Given the description of an element on the screen output the (x, y) to click on. 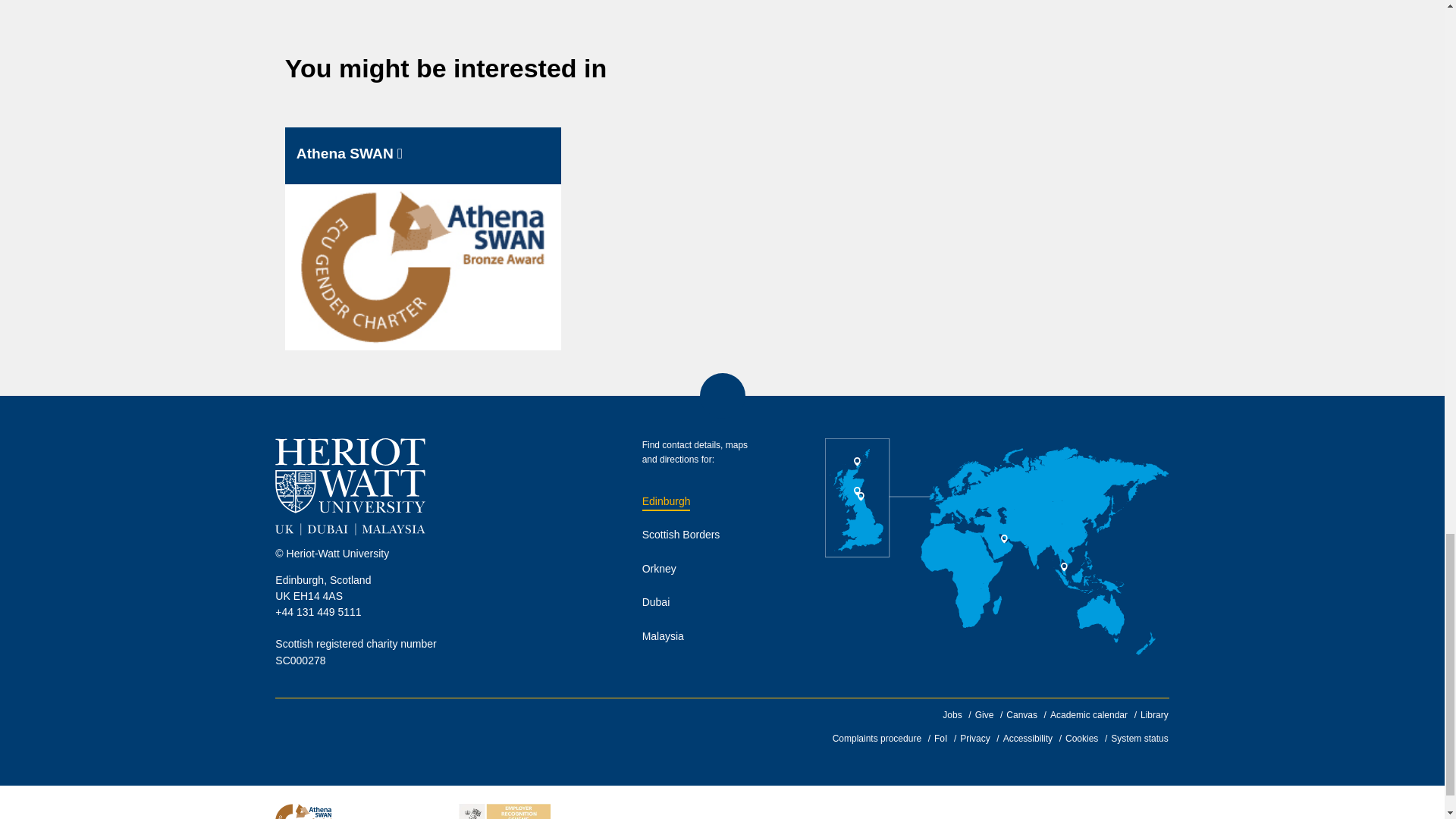
Instagram (419, 729)
LinkedIn (290, 729)
TikTok (505, 729)
YouTube (462, 729)
Facebook (333, 729)
Twitter (377, 729)
